Given the description of an element on the screen output the (x, y) to click on. 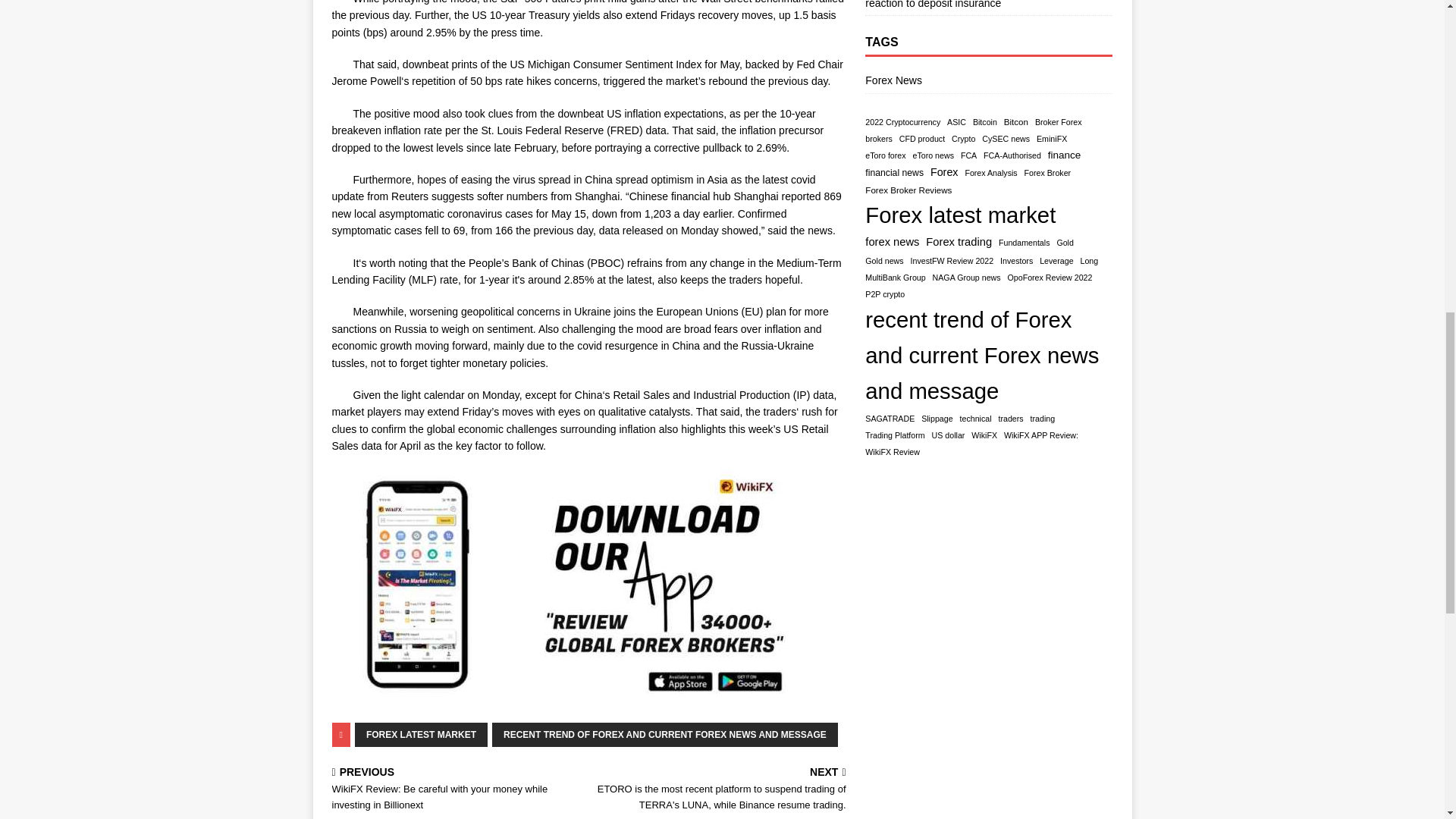
Bitcon (1015, 122)
FOREX LATEST MARKET (421, 734)
Bitcoin (984, 122)
pasted  (558, 588)
brokers (878, 138)
Forex News (988, 82)
RECENT TREND OF FOREX AND CURRENT FOREX NEWS AND MESSAGE (665, 734)
Broker Forex (1058, 122)
2022 Cryptocurrency (902, 122)
CFD product (921, 138)
ASIC (956, 122)
